Given the description of an element on the screen output the (x, y) to click on. 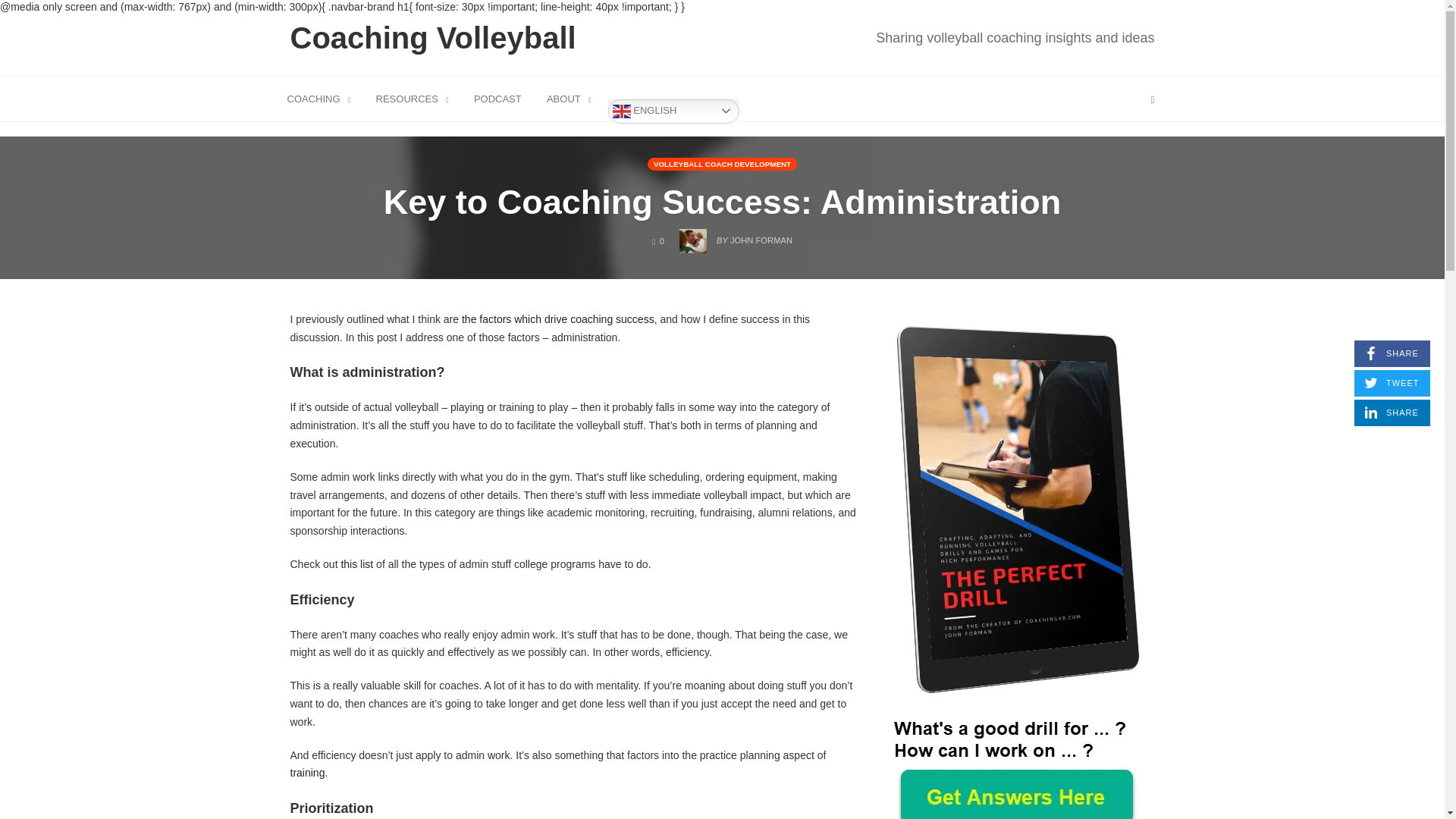
PODCAST (1391, 353)
About Coaching Volleyball (497, 97)
Sharing volleyball coaching insights and ideas (568, 97)
ENGLISH (1391, 412)
RESOURCES (1015, 37)
Volleyball Coaching Book, Courses, Product Info, and Reviews (673, 110)
Coaching Volleyball (412, 97)
COACHING (412, 97)
ABOUT (433, 37)
